Given the description of an element on the screen output the (x, y) to click on. 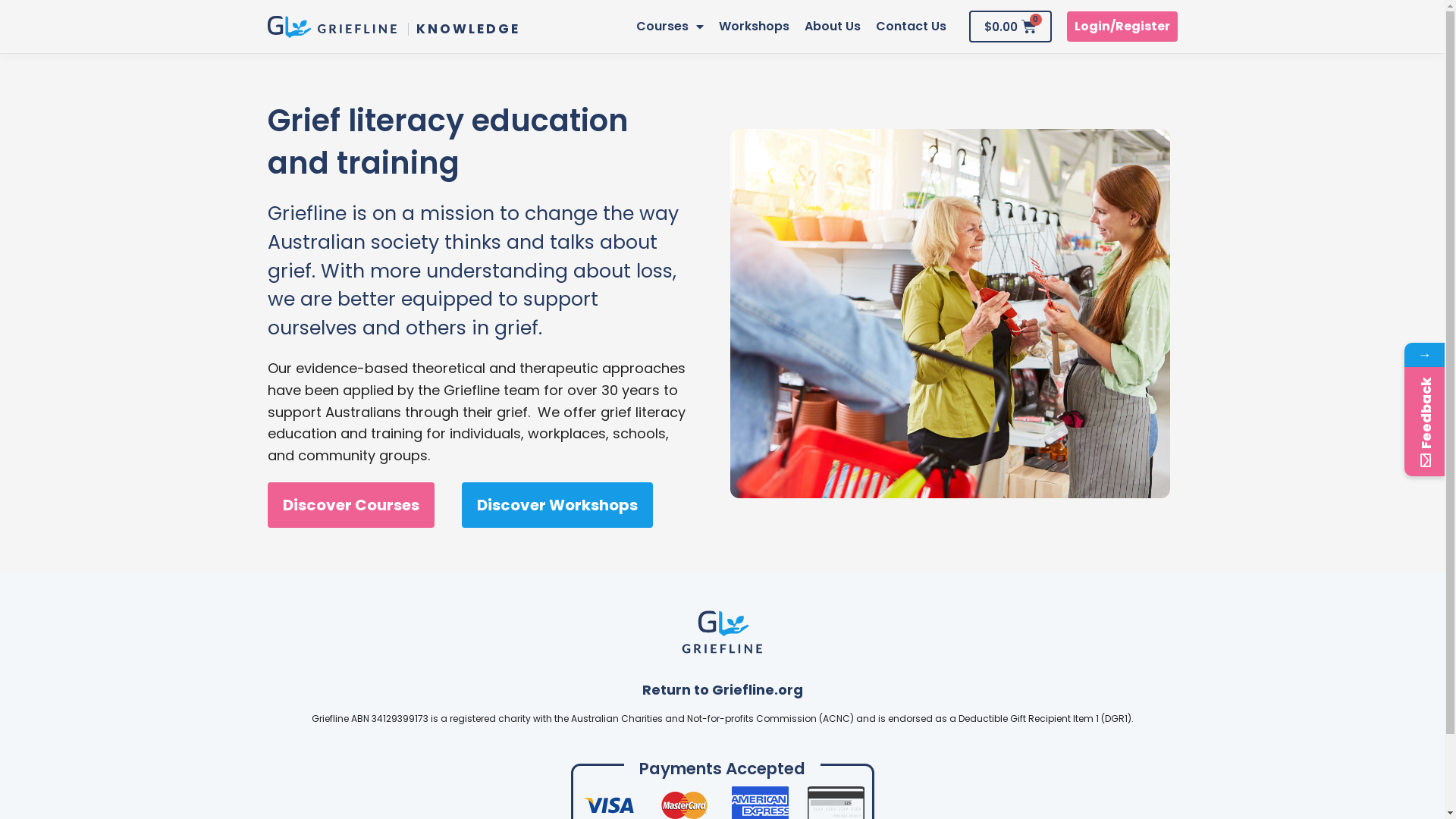
About Us Element type: text (832, 26)
Workshops Element type: text (754, 26)
Return to Griefline.org Element type: text (721, 689)
Contact Us Element type: text (910, 26)
$0.00
0 Element type: text (1010, 26)
Discover Courses Element type: text (349, 504)
Discover Workshops Element type: text (556, 504)
Courses Element type: text (669, 26)
Login/Register Element type: text (1121, 26)
